Given the description of an element on the screen output the (x, y) to click on. 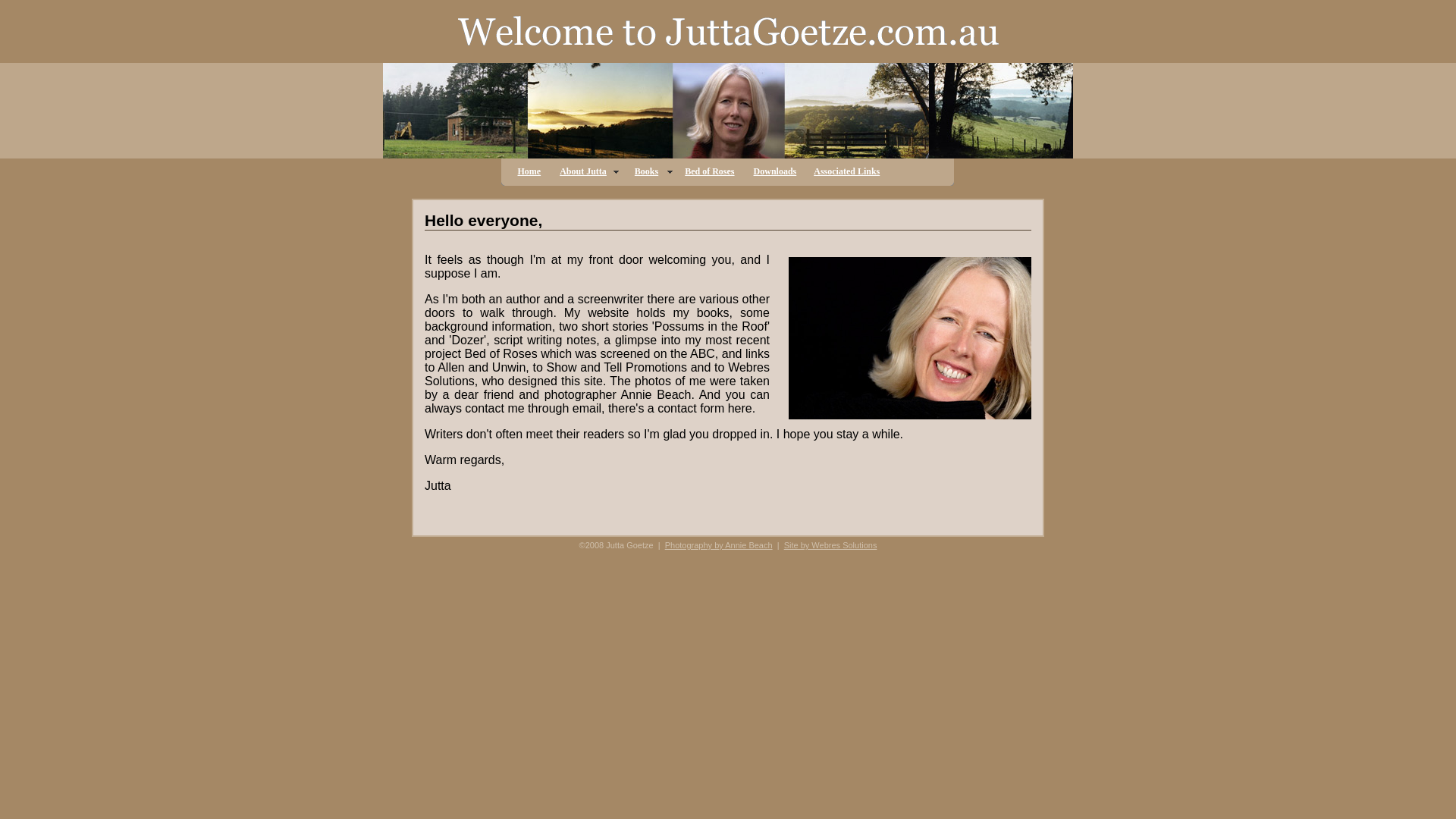
Books Element type: text (651, 171)
Site by Webres Solutions Element type: text (830, 544)
Bed of Roses Element type: text (711, 171)
Photography by Annie Beach Element type: text (718, 544)
Home Element type: text (530, 171)
Downloads Element type: text (777, 171)
About Jutta Element type: text (588, 171)
Associated Links Element type: text (846, 171)
